Given the description of an element on the screen output the (x, y) to click on. 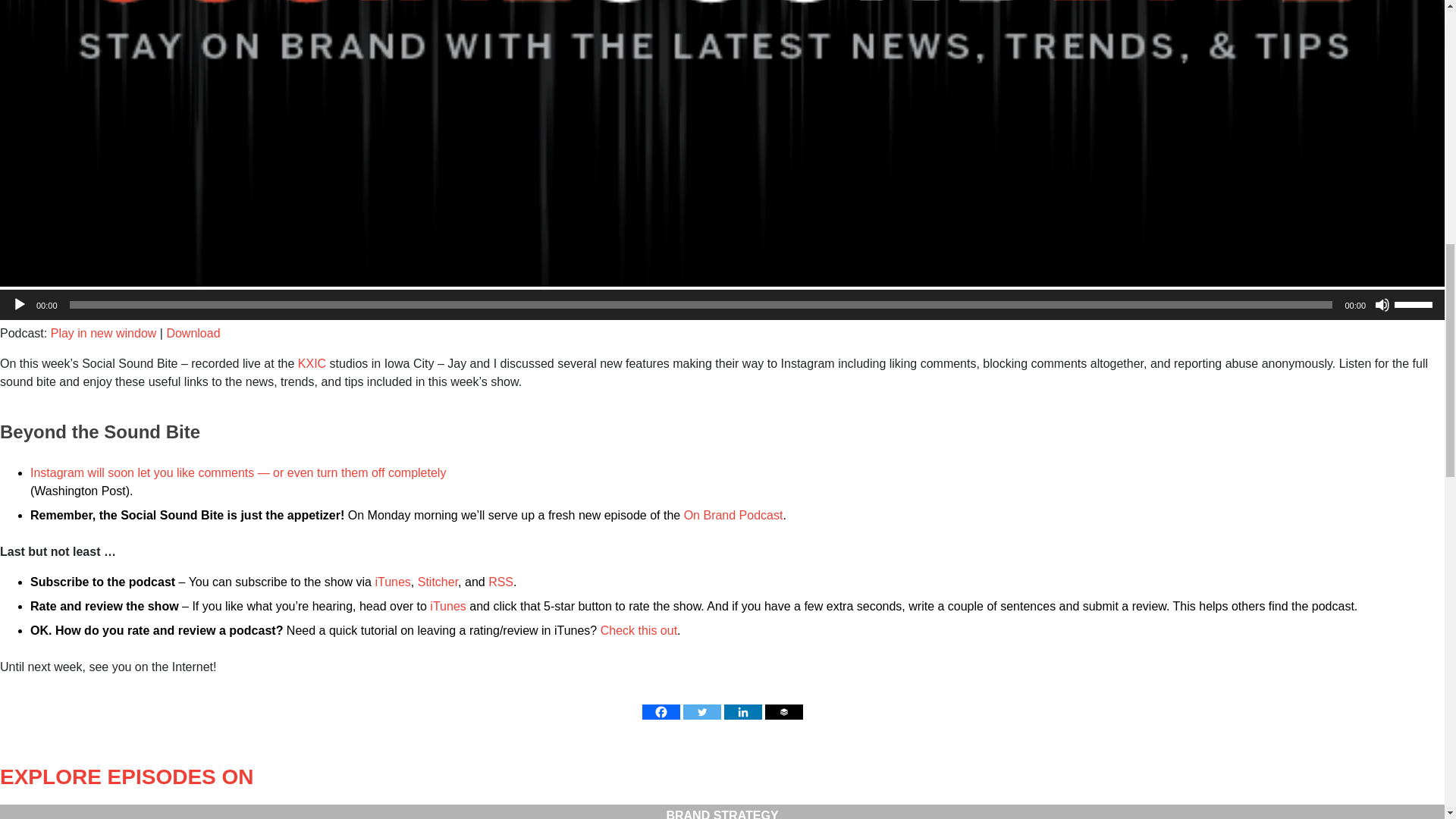
Play in new window (103, 332)
iTunes (447, 605)
iTunes (392, 581)
Check this out (638, 630)
On Brand Podcast (733, 514)
Twitter (701, 711)
Mute (1382, 304)
RSS (500, 581)
Download (192, 332)
Facebook (660, 711)
Stitcher (437, 581)
Play (19, 304)
Download (192, 332)
Linkedin (742, 711)
Play in new window (103, 332)
